Given the description of an element on the screen output the (x, y) to click on. 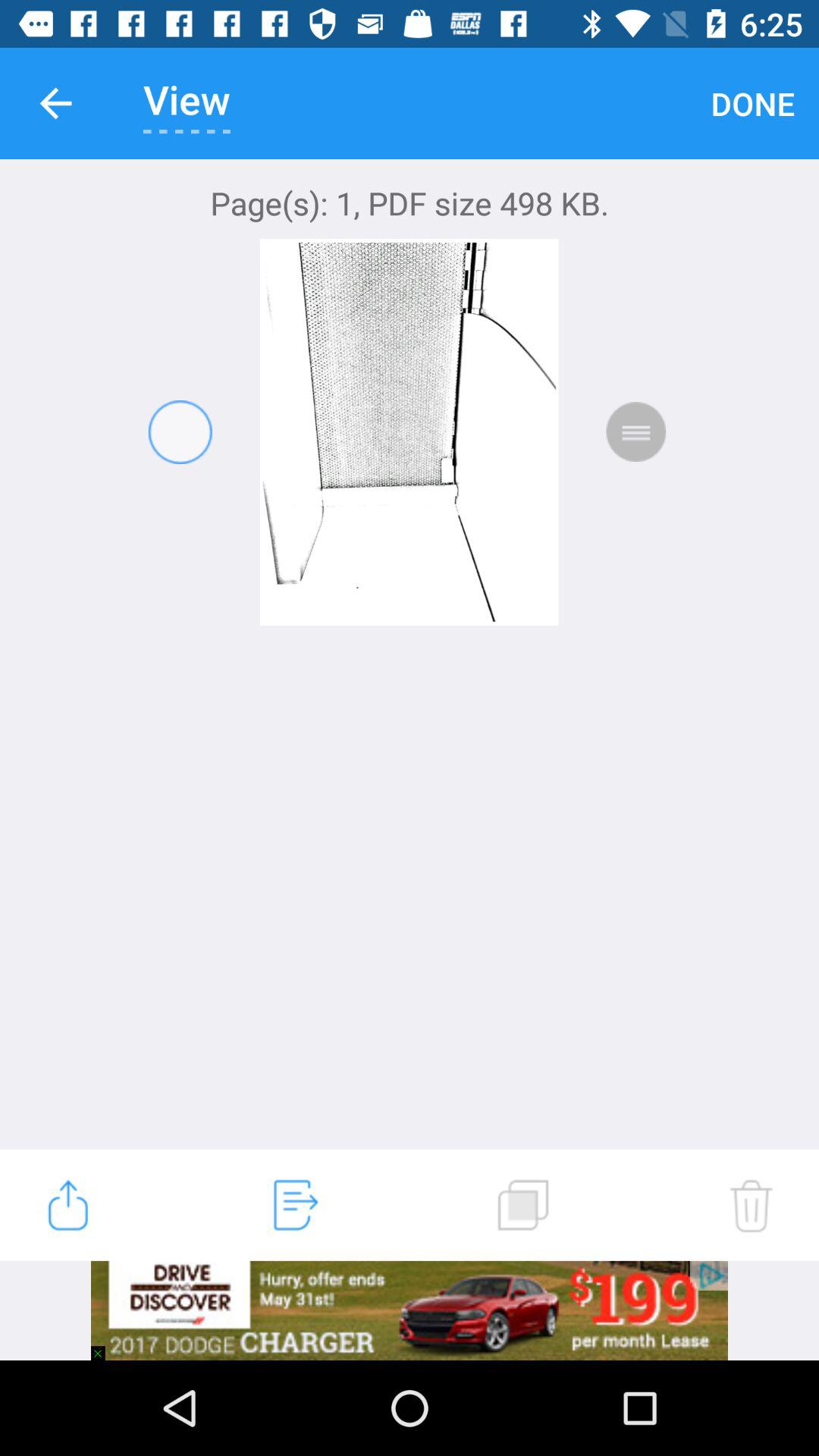
click the item to the right of view icon (753, 103)
